Given the description of an element on the screen output the (x, y) to click on. 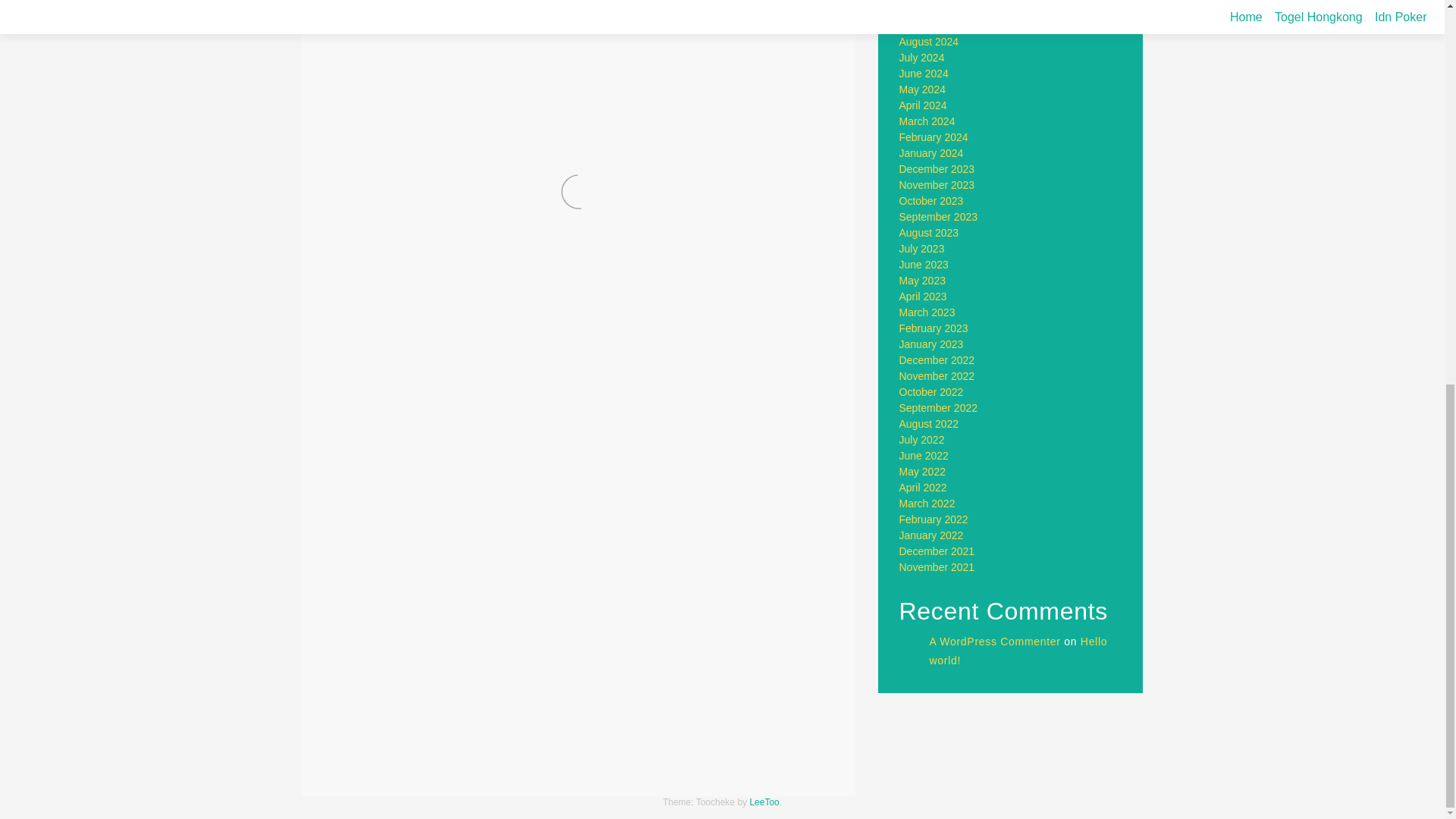
May 2023 (921, 280)
What is the Lottery?  (762, 762)
April 2023 (923, 296)
January 2024 (931, 152)
October 2023 (931, 200)
December 2023 (937, 168)
March 2023 (927, 312)
July 2024 (921, 57)
February 2023 (933, 328)
March 2024 (927, 121)
November 2022 (937, 376)
September 2023 (938, 216)
May 2024 (921, 89)
August 2024 (929, 41)
December 2022 (937, 359)
